Given the description of an element on the screen output the (x, y) to click on. 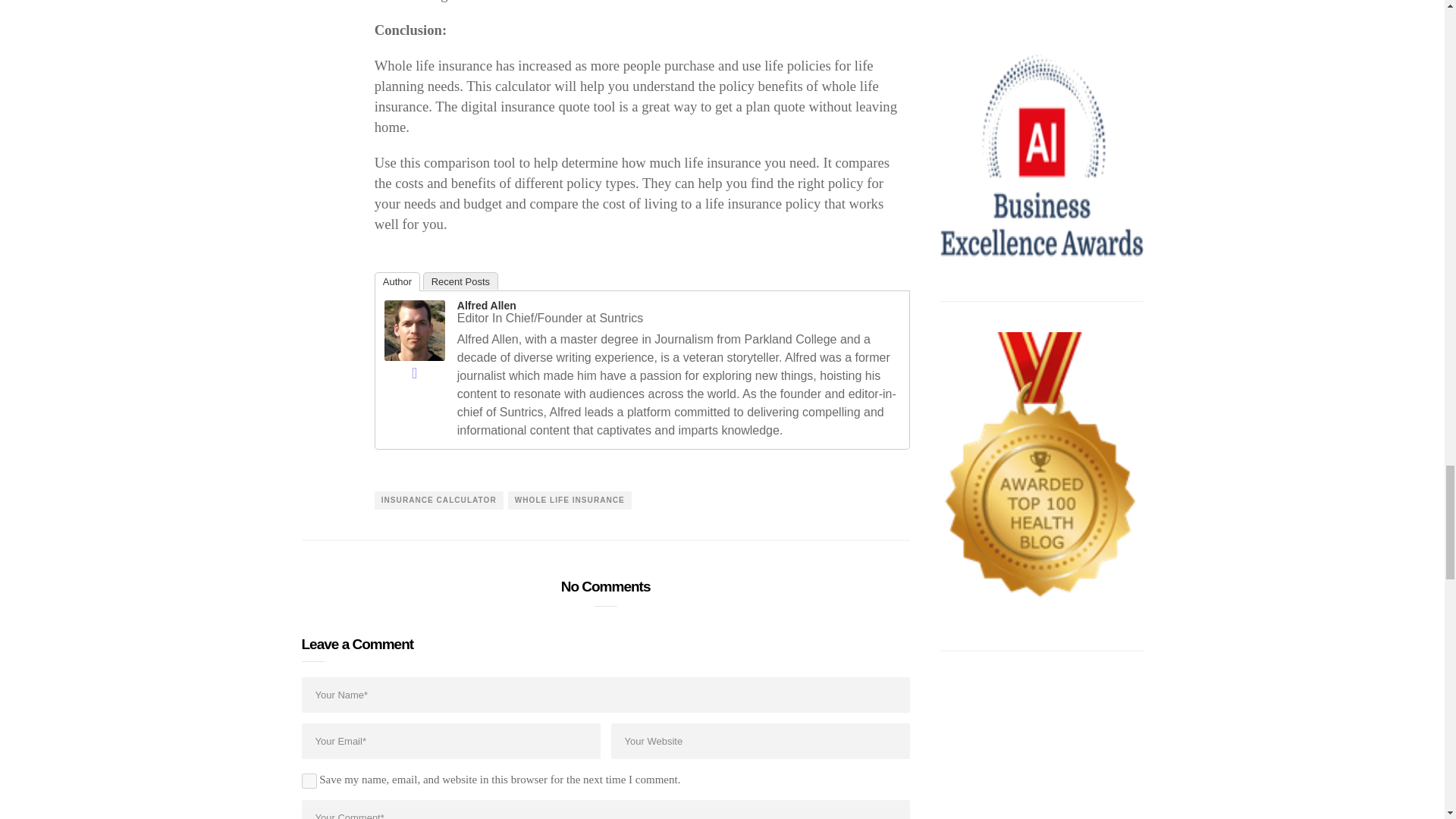
yes (309, 780)
Facebook (414, 372)
Alfred Allen (414, 328)
